Given the description of an element on the screen output the (x, y) to click on. 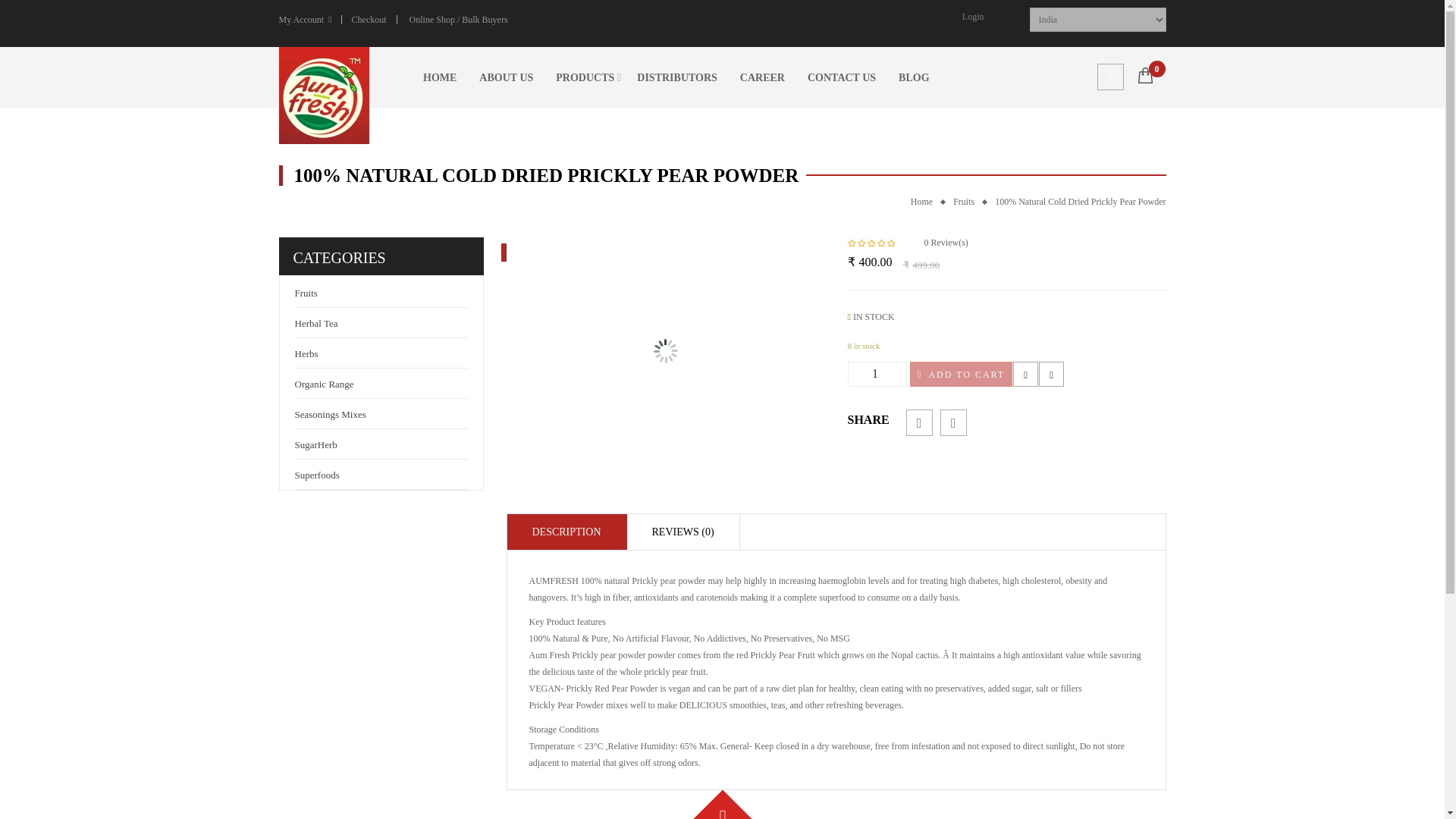
Superfoods (316, 474)
PRODUCTS (585, 76)
Compare (1051, 373)
HOME (439, 76)
1 (877, 373)
Herbs (305, 353)
Organic Range (323, 383)
DISTRIBUTORS (677, 76)
Checkout (369, 19)
SugarHerb (315, 444)
